Given the description of an element on the screen output the (x, y) to click on. 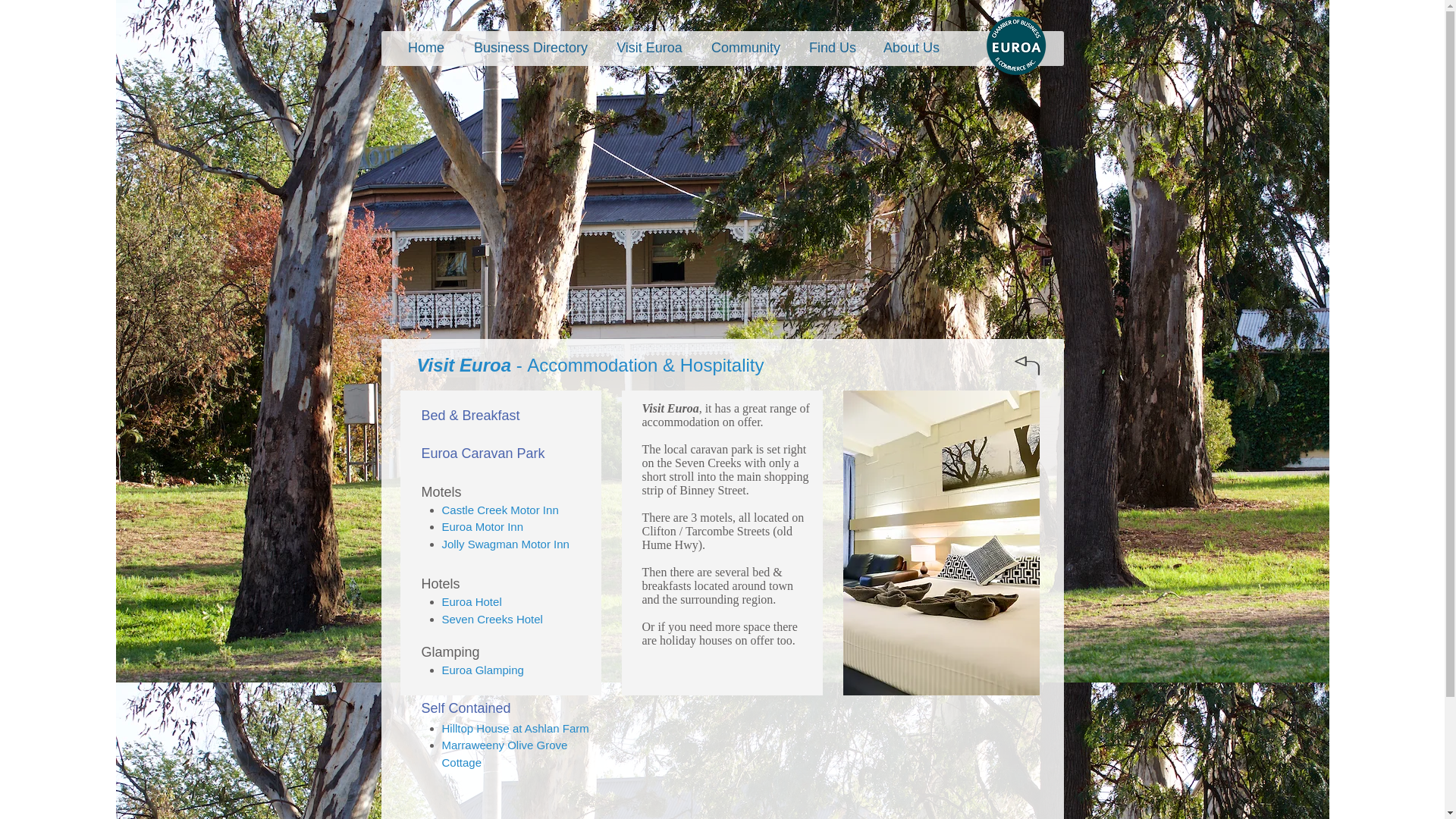
Euroa Glamping (481, 669)
About Us (911, 46)
Seven Creeks Hotel (491, 618)
Jolly Swagman Motor Inn (505, 543)
Self Contained (466, 708)
Community (745, 46)
Euroa Motor Inn (481, 526)
Castle Creek Motor Inn (499, 509)
Marraweeny Olive Grove Cottage (504, 753)
Hilltop House at Ashlan Farm (514, 727)
Find Us (832, 46)
Euroa Hotel (470, 601)
Visit Euroa (649, 46)
Home (426, 46)
Business Directory (530, 46)
